Given the description of an element on the screen output the (x, y) to click on. 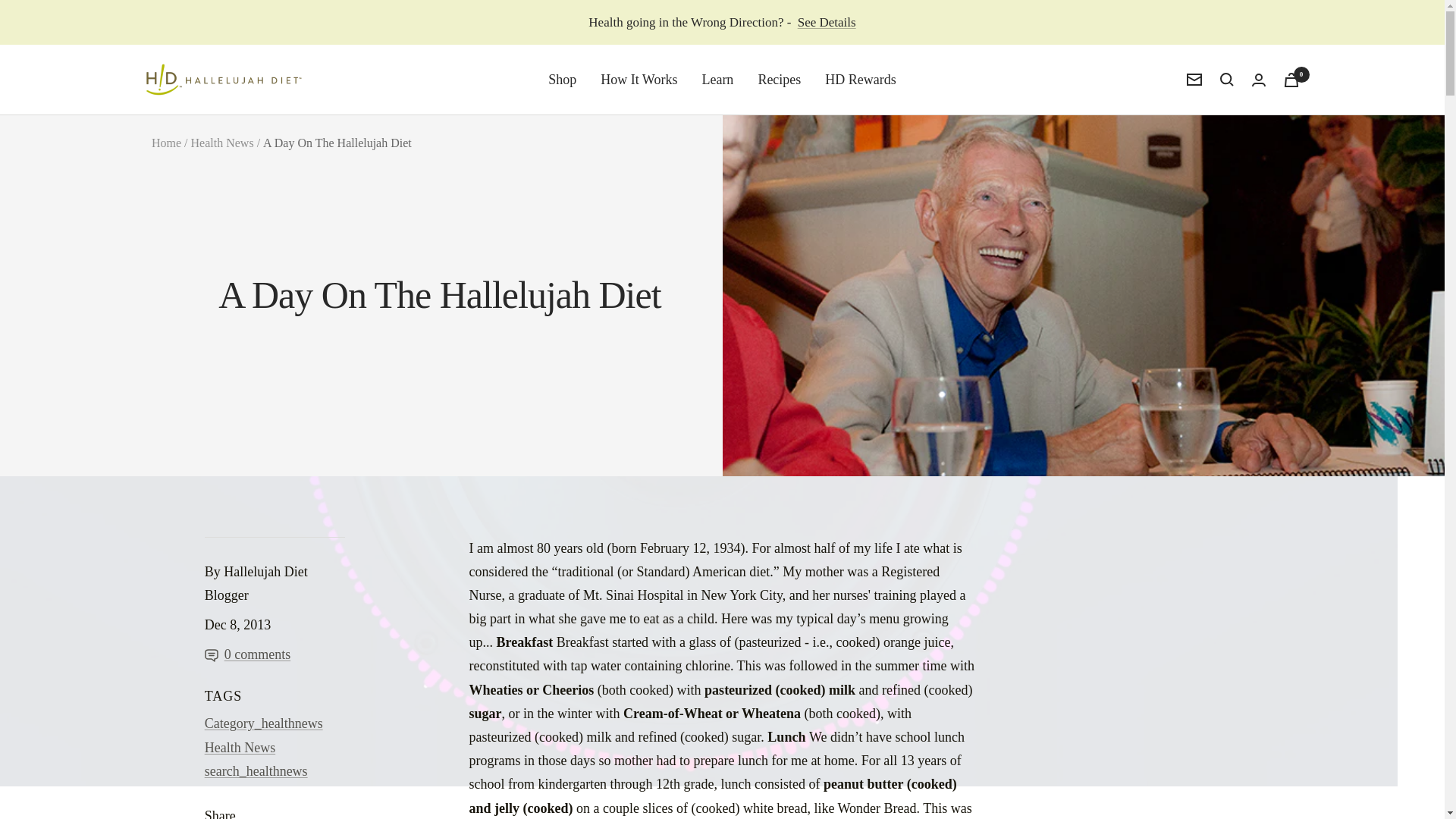
0 (1291, 79)
Shop (562, 79)
Learn (717, 79)
Newsletter (1194, 79)
HD Rewards (860, 79)
How It Works (638, 79)
See Details (826, 22)
Recipes (778, 79)
Hallelujah Diet (223, 79)
